Given the description of an element on the screen output the (x, y) to click on. 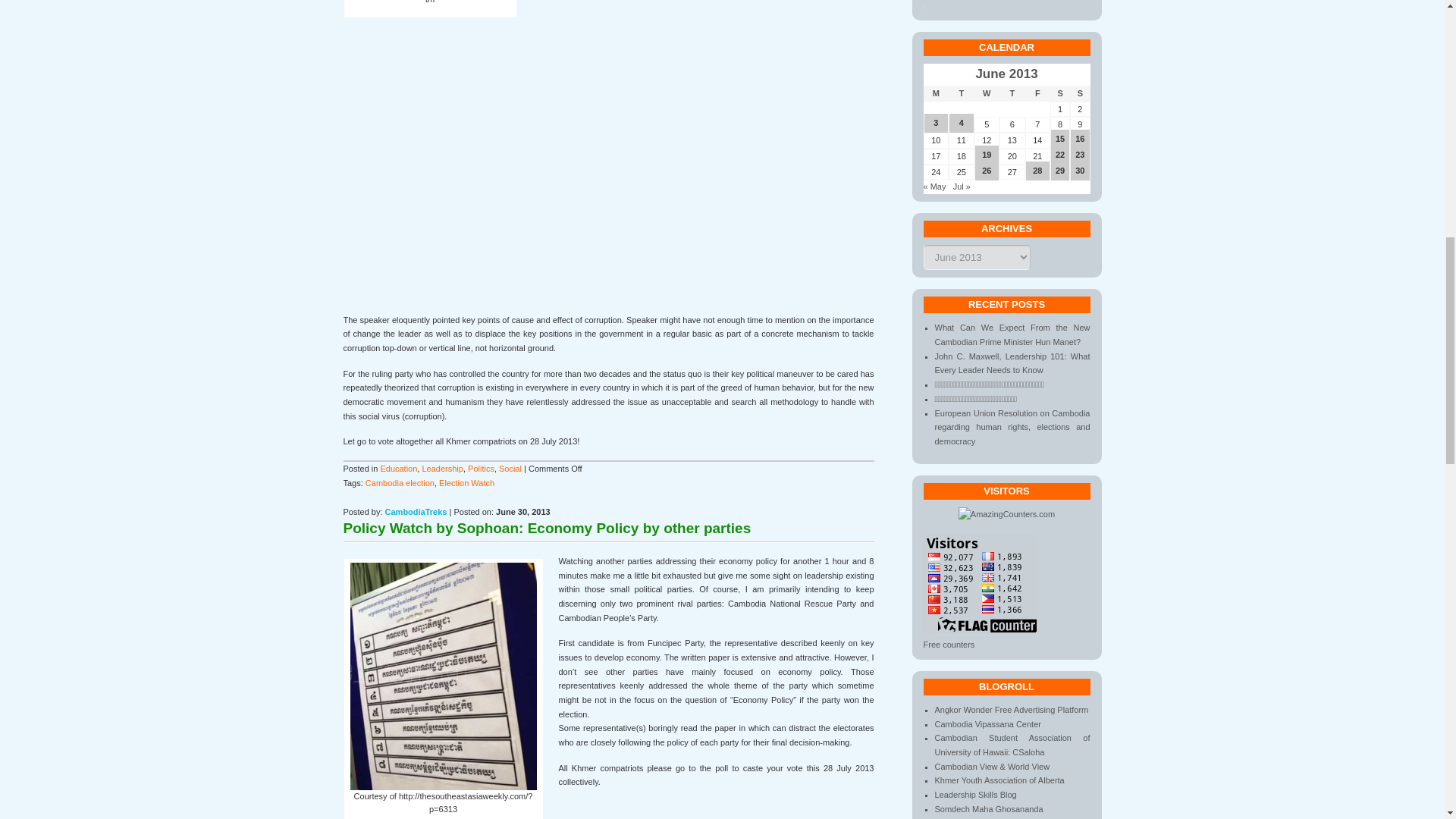
Friday (1038, 93)
Thursday (1011, 93)
Saturday (1059, 93)
Sunday (1079, 93)
Wednesday (986, 93)
Tuesday (961, 93)
Posts by CambodiaTreks (415, 511)
Monday (936, 93)
